Given the description of an element on the screen output the (x, y) to click on. 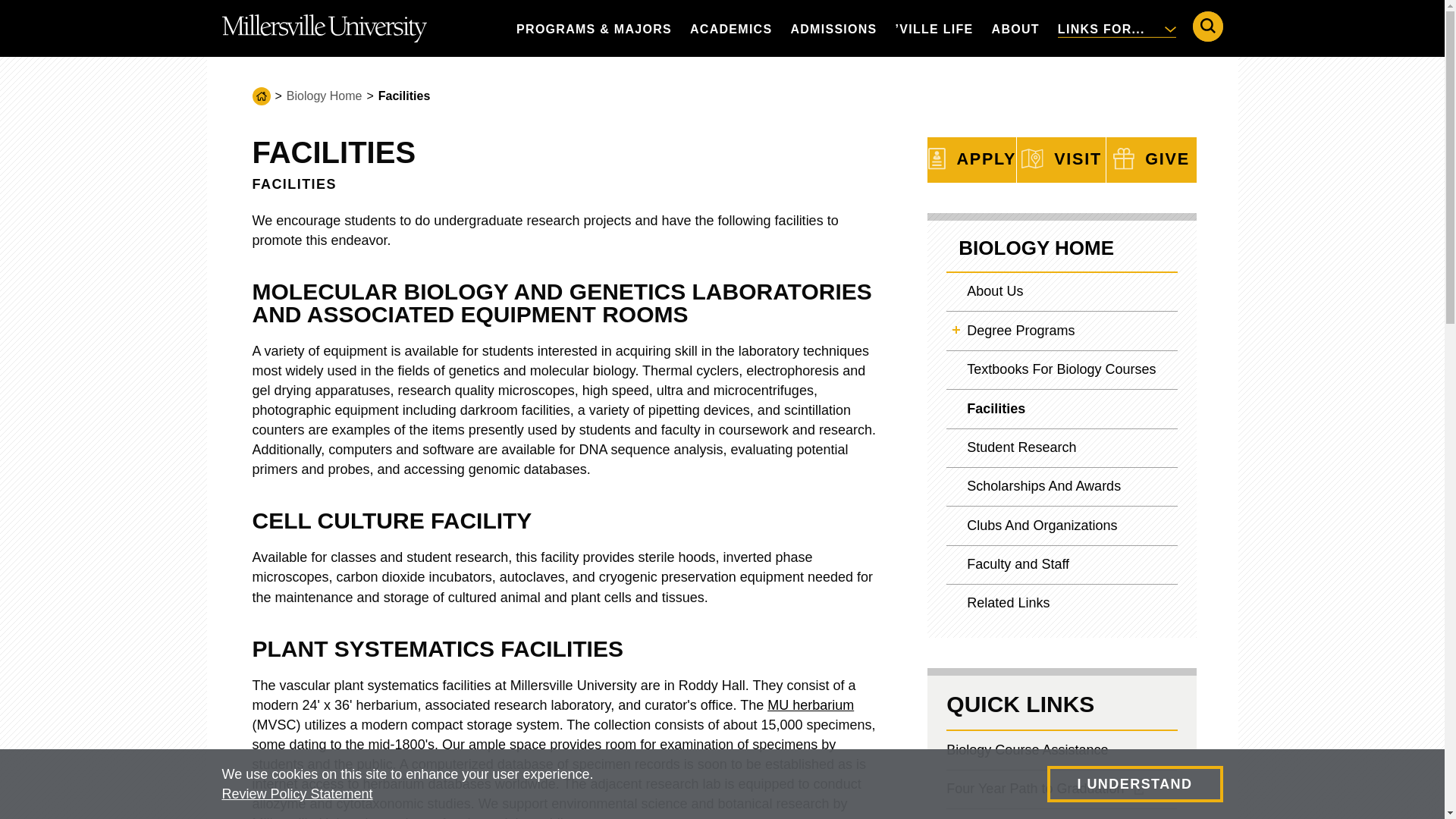
Millersville University Home Page (323, 28)
ABOUT (1015, 28)
What are you looking for? (1207, 26)
LINKS FOR... (1116, 28)
ADMISSIONS (832, 28)
Millersville University Home Page (323, 28)
Admissions (832, 28)
Academics (730, 28)
ACADEMICS (730, 28)
